Given the description of an element on the screen output the (x, y) to click on. 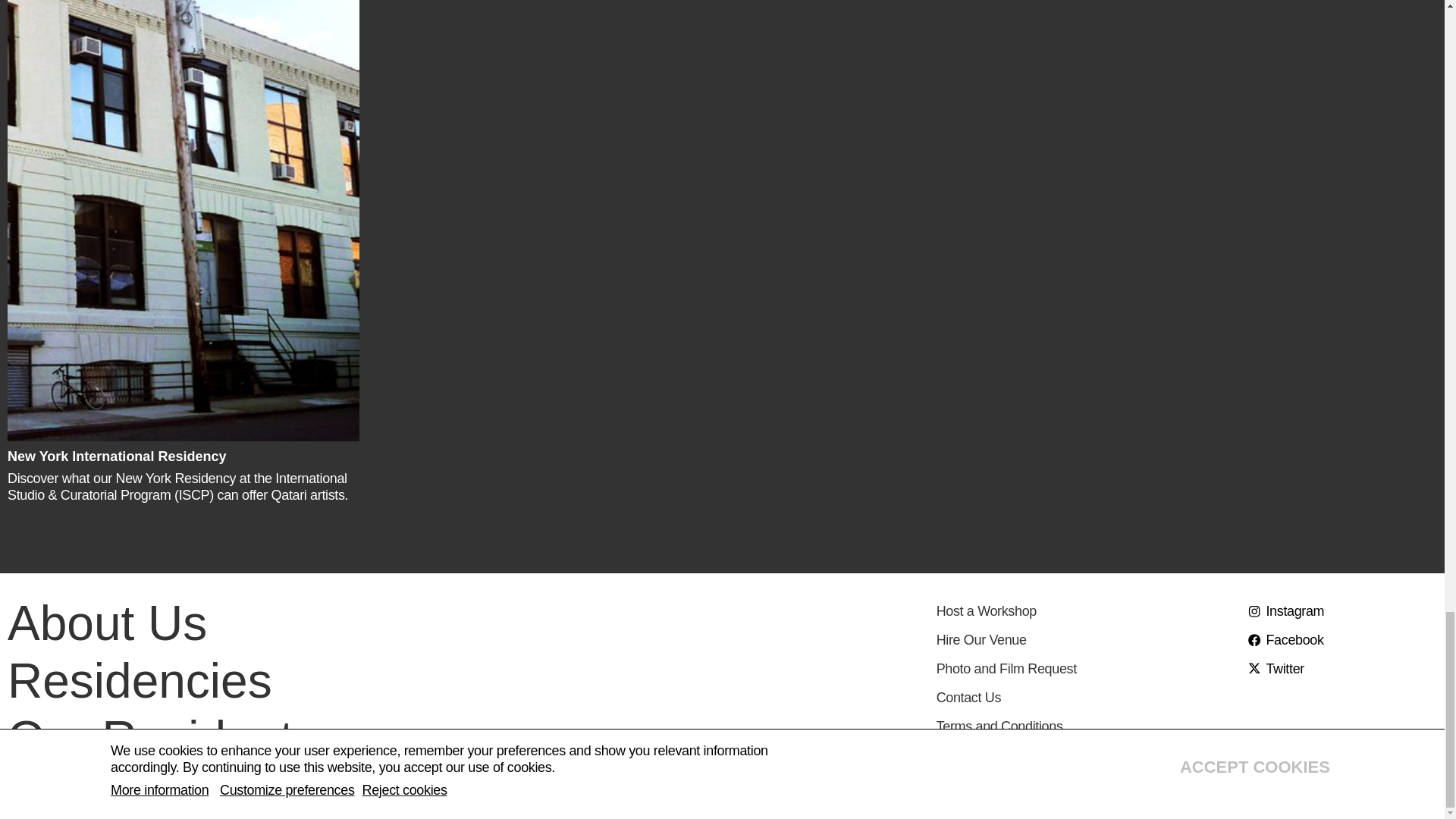
Contact Us (1083, 698)
Host a Workshop (1083, 611)
Residencies (139, 679)
Cookie Policy (1083, 755)
Hire Our Venue (1083, 640)
Photo and Film Request (1083, 669)
Instagram (1341, 611)
Terms and Conditions (1083, 727)
Our Residents (162, 737)
About Us (106, 622)
